Given the description of an element on the screen output the (x, y) to click on. 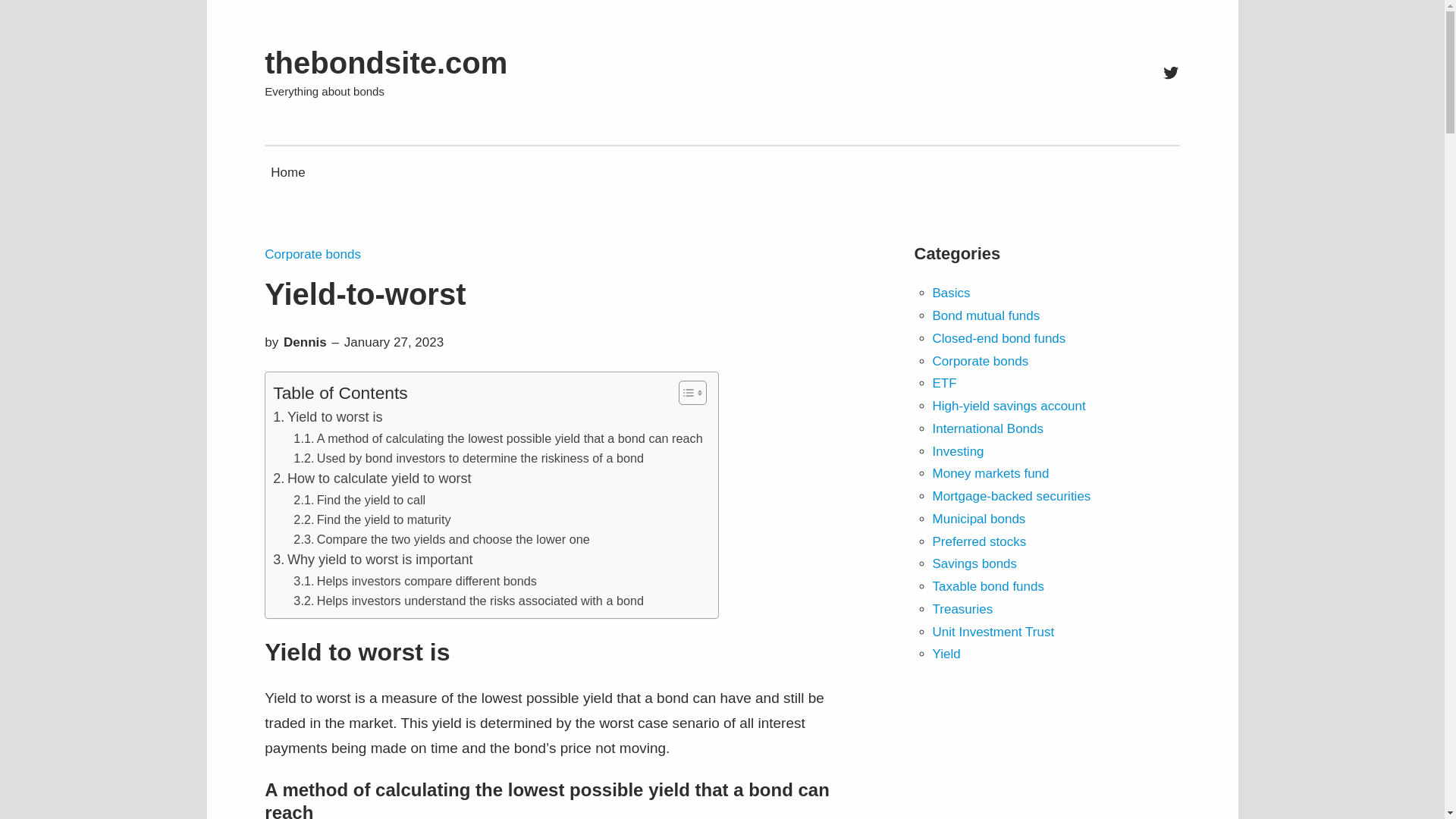
Yield to worst is (327, 417)
Why yield to worst is important (372, 559)
Closed-end bond funds (999, 338)
Find the yield to maturity (371, 519)
Twitter (1170, 72)
Corporate bonds (312, 254)
Find the yield to maturity (371, 519)
Basics (952, 292)
Investing (958, 451)
Bond mutual funds (987, 315)
